Given the description of an element on the screen output the (x, y) to click on. 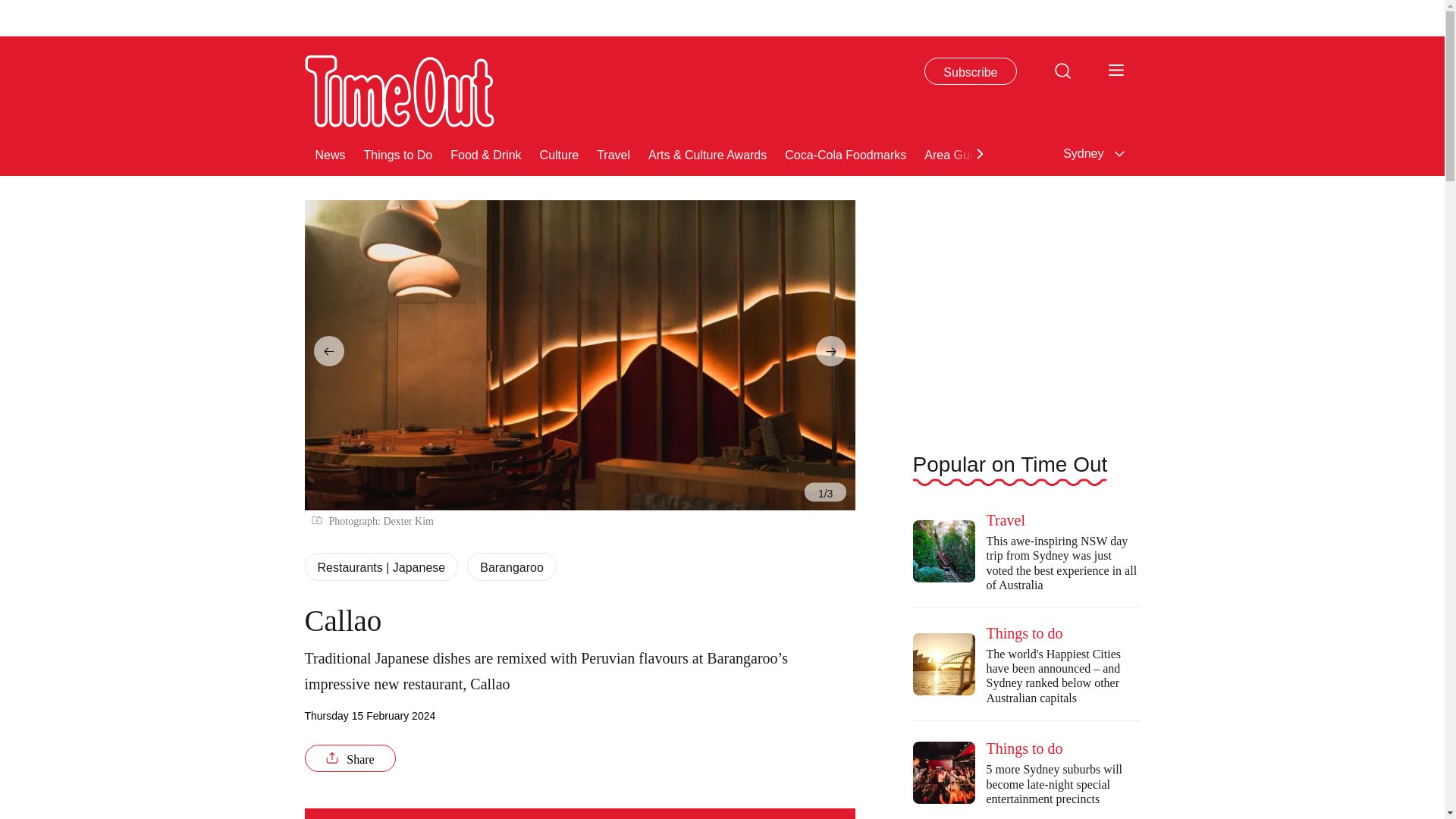
Culture (559, 153)
Area Guides (957, 153)
News (330, 153)
Go to the content (10, 7)
Coca-Cola Foodmarks (845, 153)
Search (1061, 69)
Travel (613, 153)
Things to Do (397, 153)
Shopping (1077, 153)
Subscribe (970, 71)
